Given the description of an element on the screen output the (x, y) to click on. 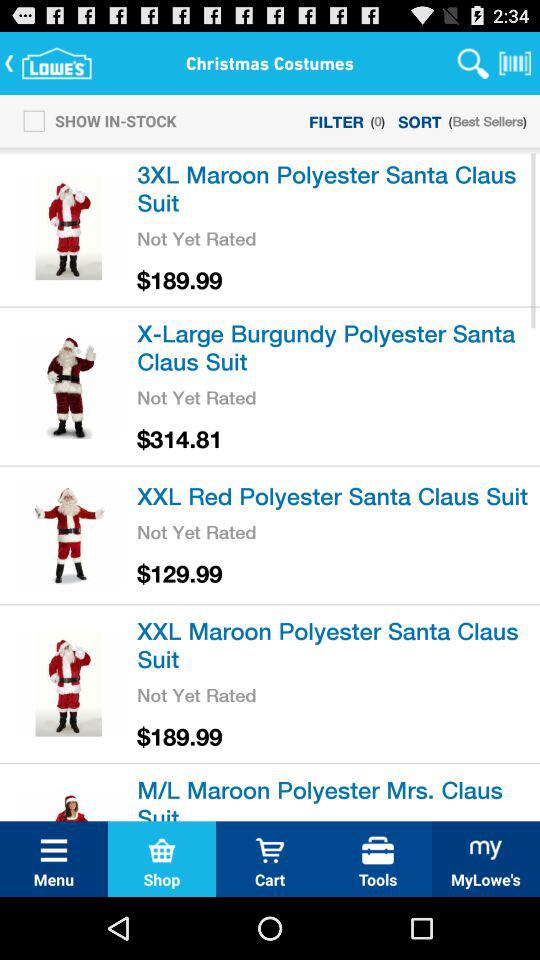
swipe until show in-stock (94, 120)
